Given the description of an element on the screen output the (x, y) to click on. 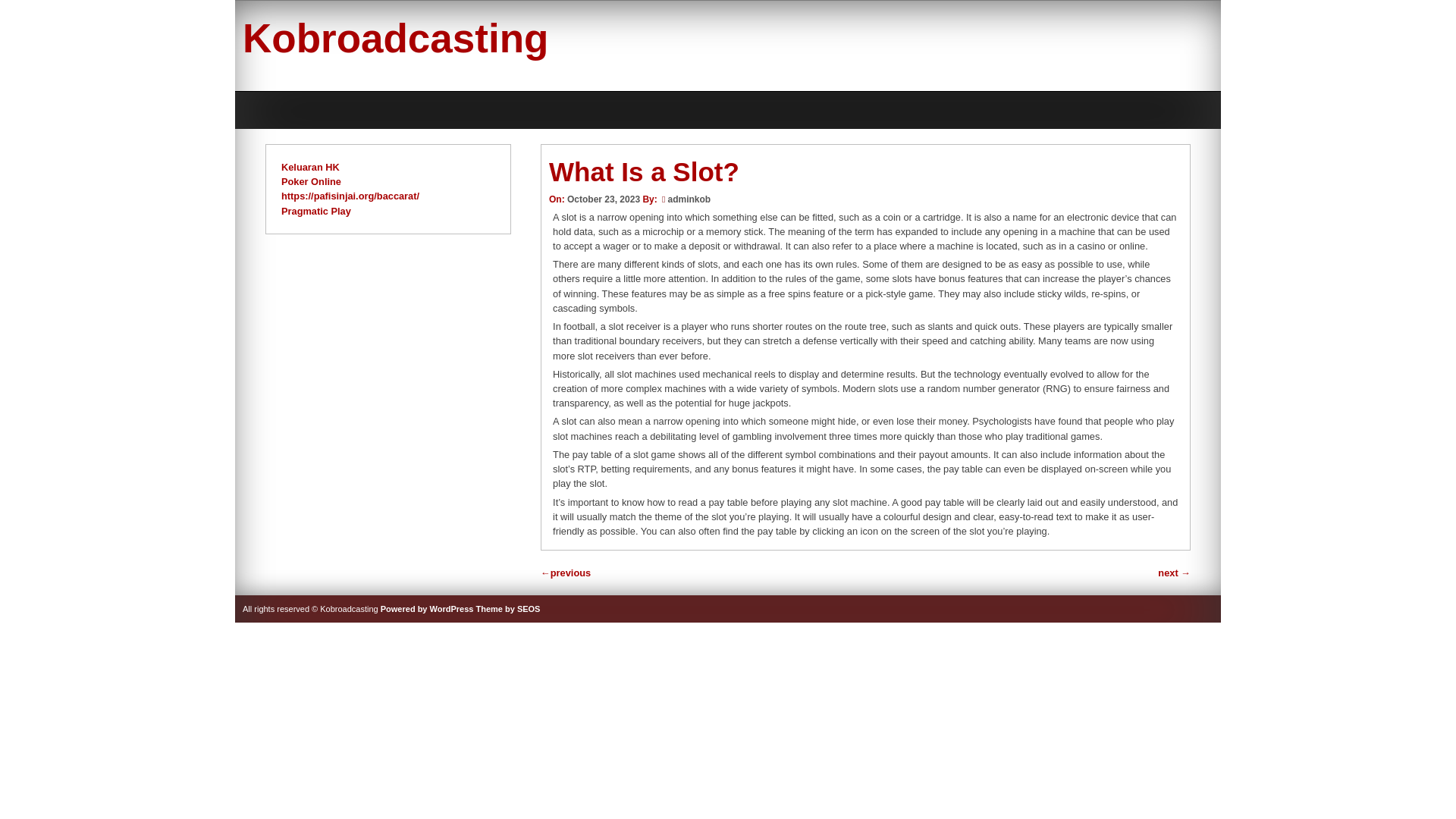
Seos free wordpress themes (508, 608)
Theme by SEOS (508, 608)
Powered by WordPress (427, 608)
adminkob (688, 199)
Kobroadcasting (395, 37)
Keluaran HK (310, 166)
Poker Online (310, 181)
October 23, 2023 (603, 199)
Pragmatic Play (315, 211)
